Given the description of an element on the screen output the (x, y) to click on. 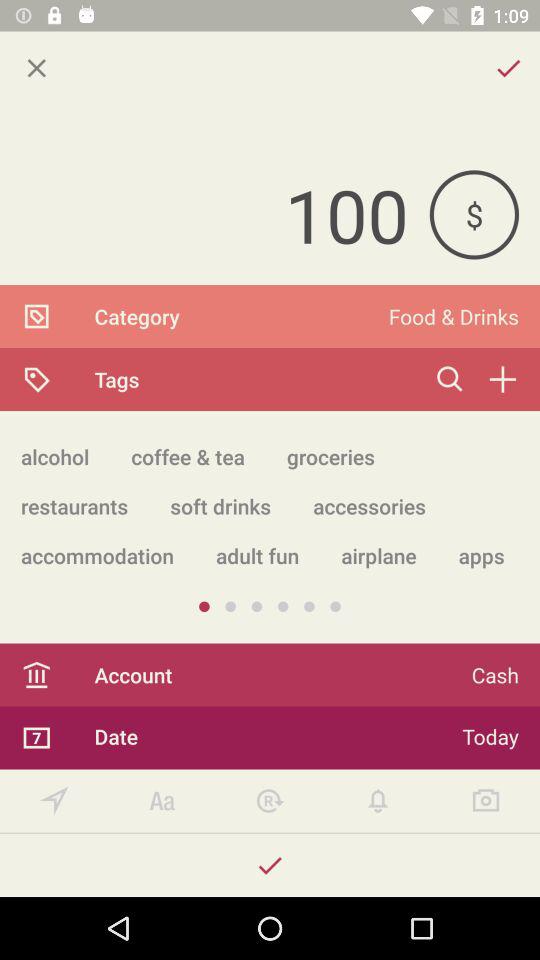
click app above soft drinks app (330, 456)
